Given the description of an element on the screen output the (x, y) to click on. 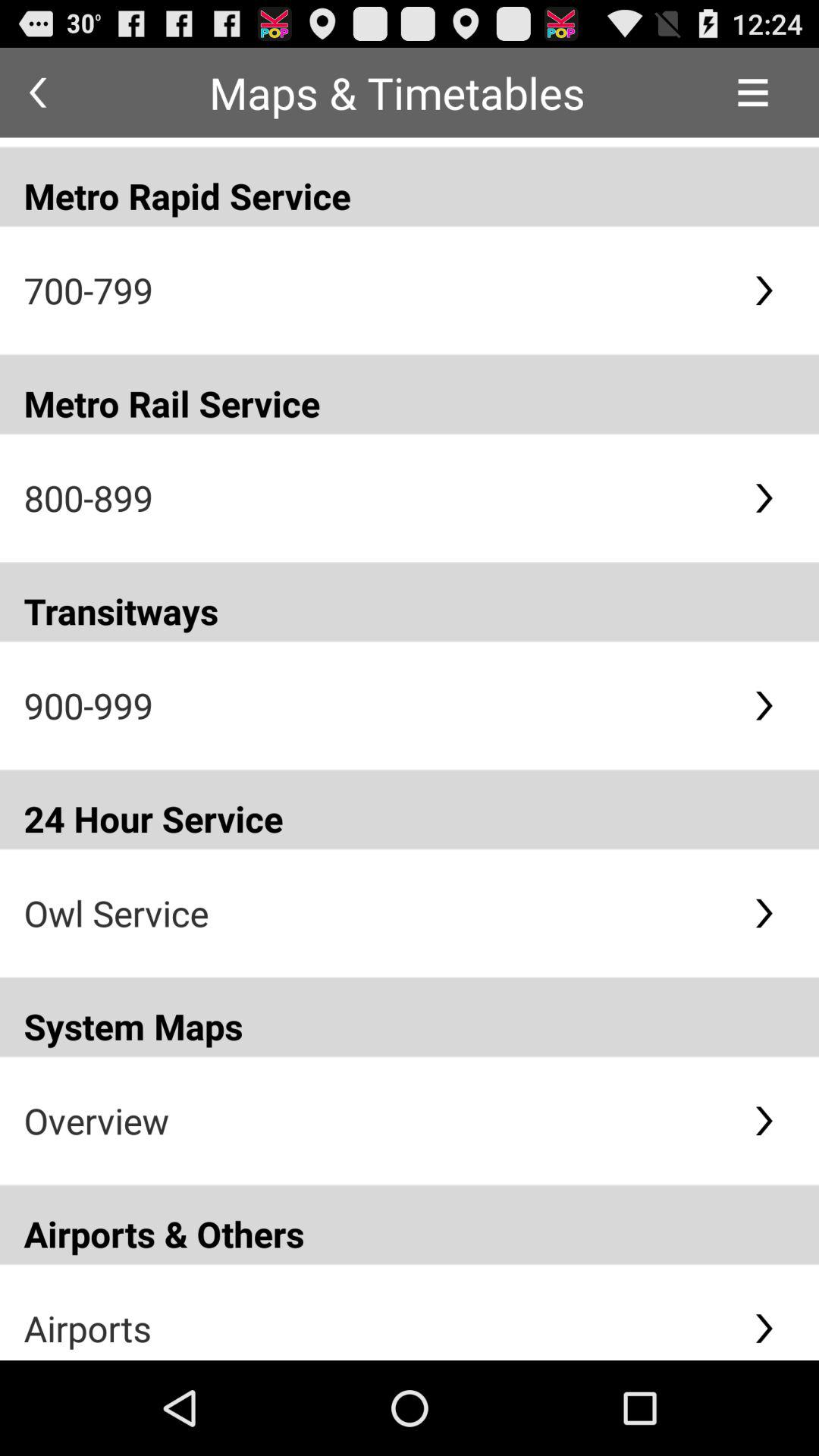
press the 24 hour service icon (409, 809)
